Given the description of an element on the screen output the (x, y) to click on. 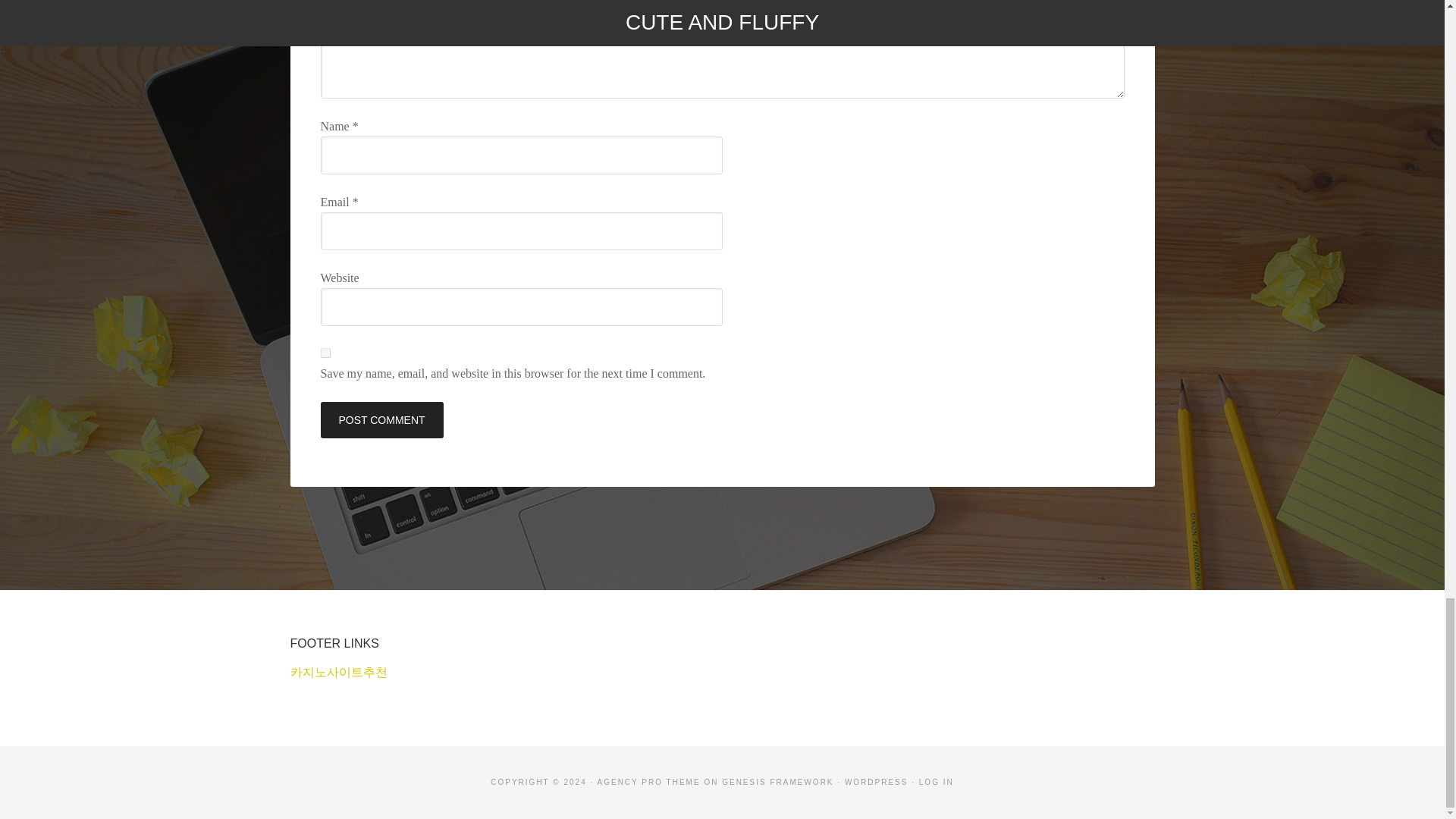
WORDPRESS (876, 782)
GENESIS FRAMEWORK (777, 782)
yes (325, 352)
Post Comment (381, 420)
AGENCY PRO THEME (648, 782)
LOG IN (935, 782)
Post Comment (381, 420)
